Given the description of an element on the screen output the (x, y) to click on. 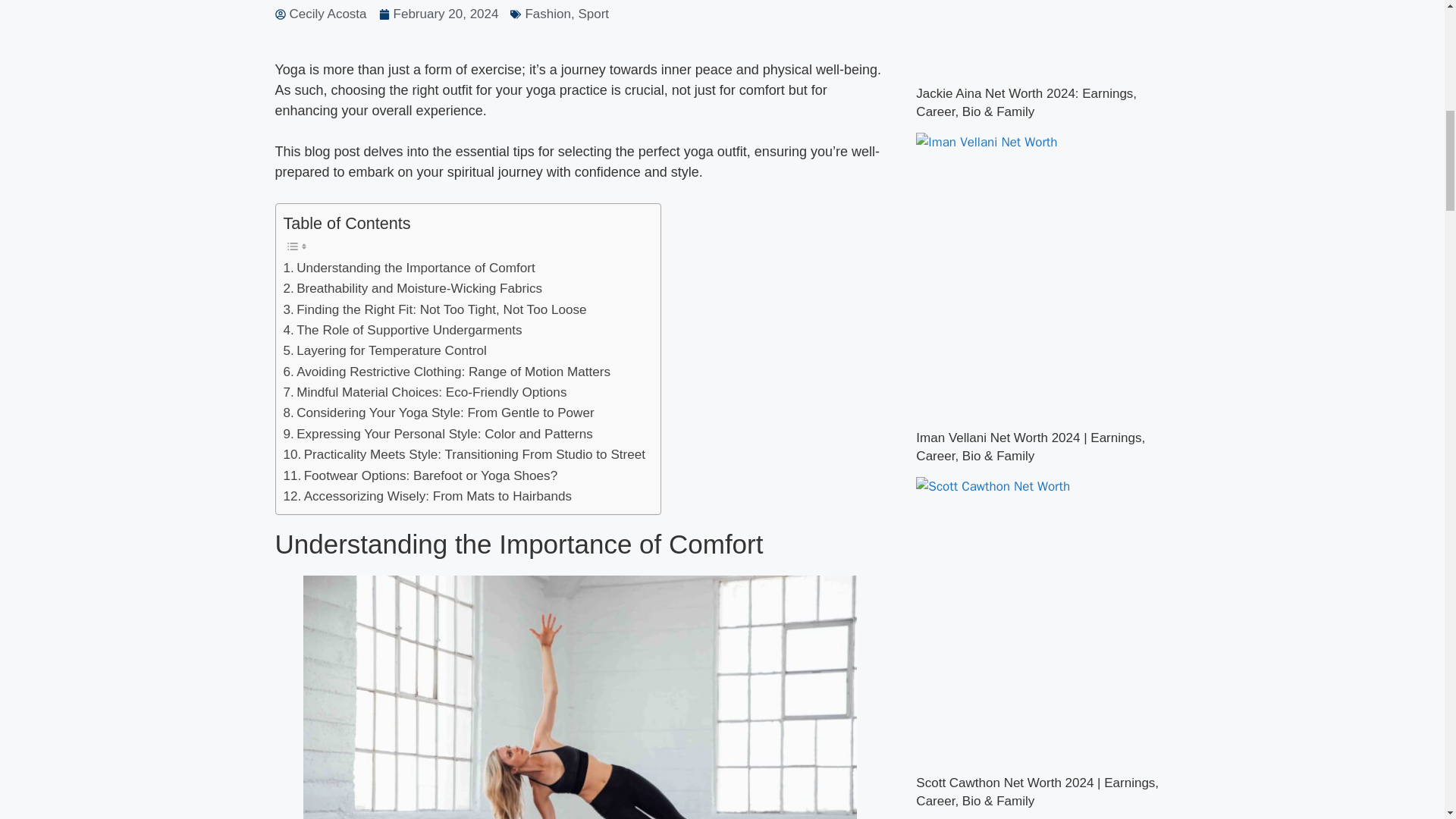
The Role of Supportive Undergarments (402, 330)
Cecily Acosta (320, 14)
Finding the Right Fit: Not Too Tight, Not Too Loose (434, 309)
Understanding the Importance of Comfort (409, 267)
Fashion (547, 13)
Footwear Options: Barefoot or Yoga Shoes? (420, 476)
Mindful Material Choices: Eco-Friendly Options (425, 392)
Layering for Temperature Control (384, 350)
Understanding the Importance of Comfort (409, 267)
Avoiding Restrictive Clothing: Range of Motion Matters (447, 371)
